Given the description of an element on the screen output the (x, y) to click on. 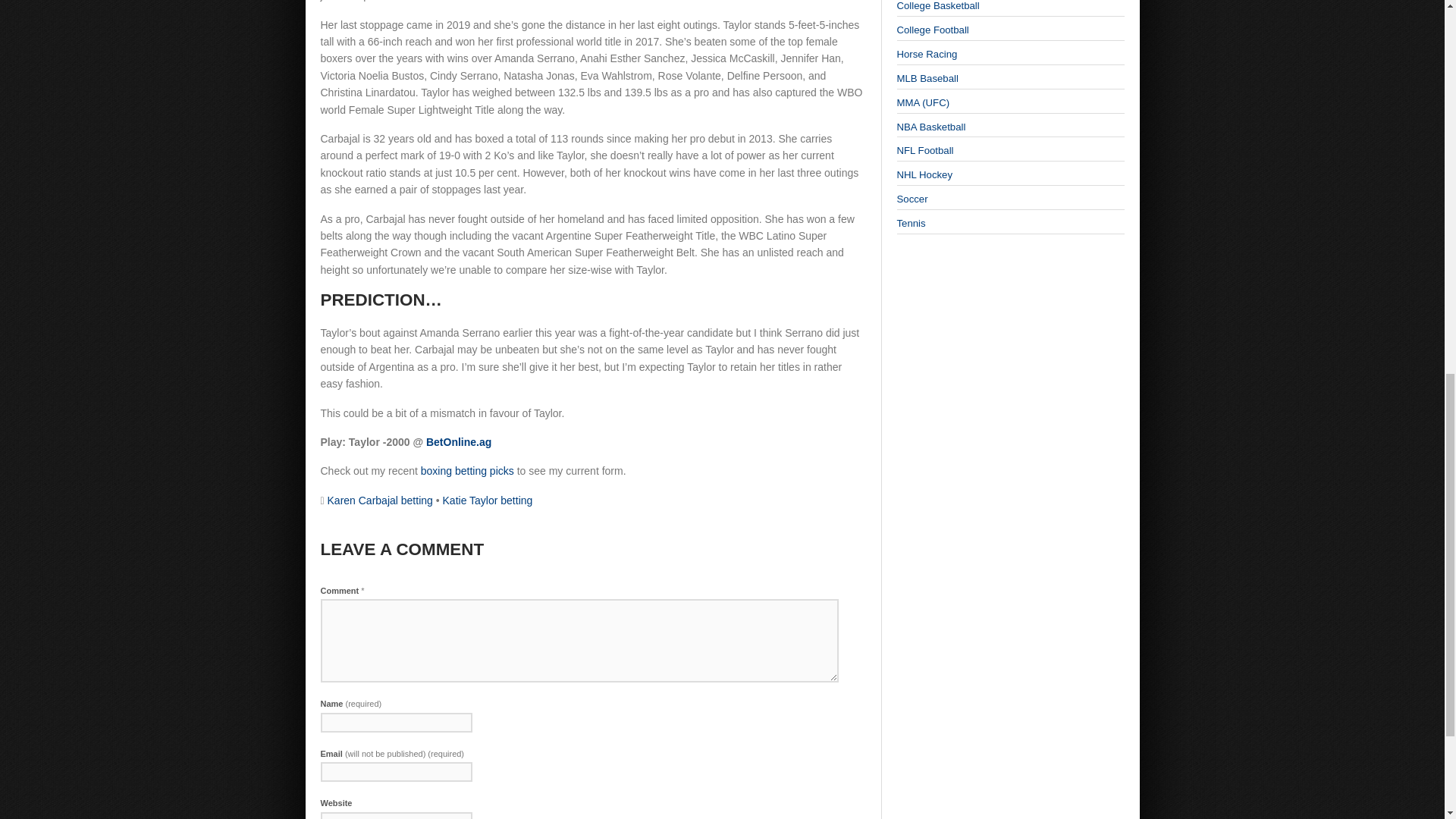
Horse Race Betting (926, 53)
Katie Taylor betting (487, 500)
MLB Betting (927, 78)
Karen Carbajal betting (379, 500)
boxing betting picks (466, 470)
BetOnline.ag (459, 441)
NCAA Basketball Betting (937, 5)
NBA Betting (930, 126)
NFL Betting (924, 150)
MMA Betting (922, 102)
NHL Betting (924, 174)
NCAA Football Betting (932, 30)
